Given the description of an element on the screen output the (x, y) to click on. 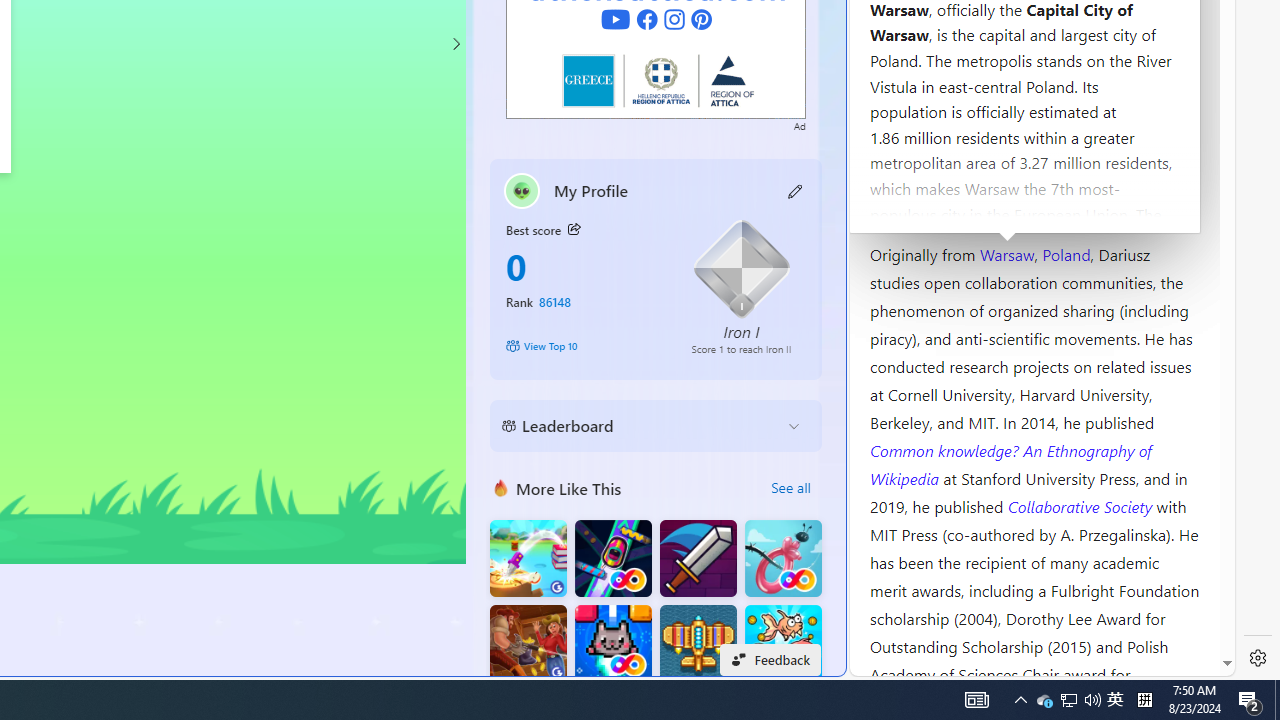
Settings (1258, 658)
Harvard University (934, 205)
Saloon Robbery (528, 643)
Dungeon Master Knight (698, 558)
More Like This (501, 487)
Common knowledge? An Ethnography of Wikipedia (1010, 463)
See all (790, 487)
Poland (1065, 253)
Leaderboard (639, 425)
Balloon FRVR (783, 558)
Knife Flip (528, 558)
Actions for this site (1129, 306)
